Given the description of an element on the screen output the (x, y) to click on. 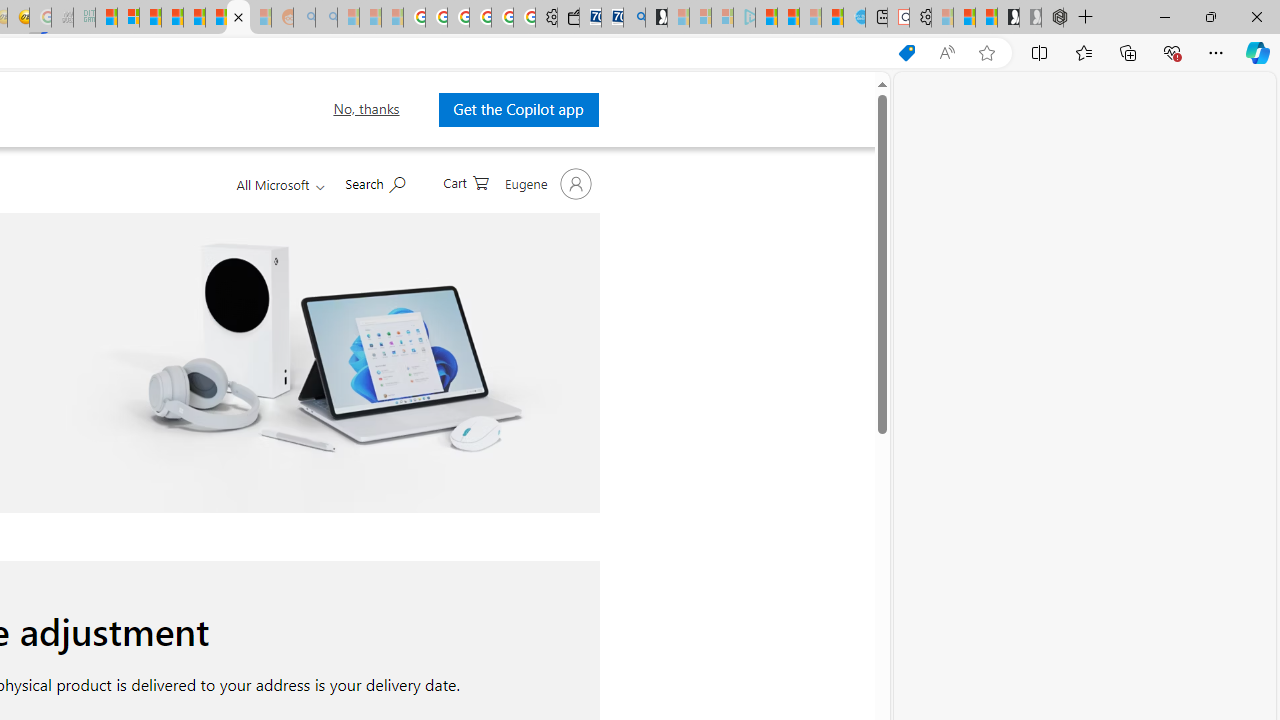
Play Free Online Games | Games from Microsoft Start (1008, 17)
Utah sues federal government - Search - Sleeping (326, 17)
Microsoft Start - Sleeping (810, 17)
0 items in shopping cart (465, 181)
Account manager for Eugene (545, 183)
Cheap Car Rentals - Save70.com (612, 17)
Nordace - Nordace Siena Is Not An Ordinary Backpack (1052, 17)
